Given the description of an element on the screen output the (x, y) to click on. 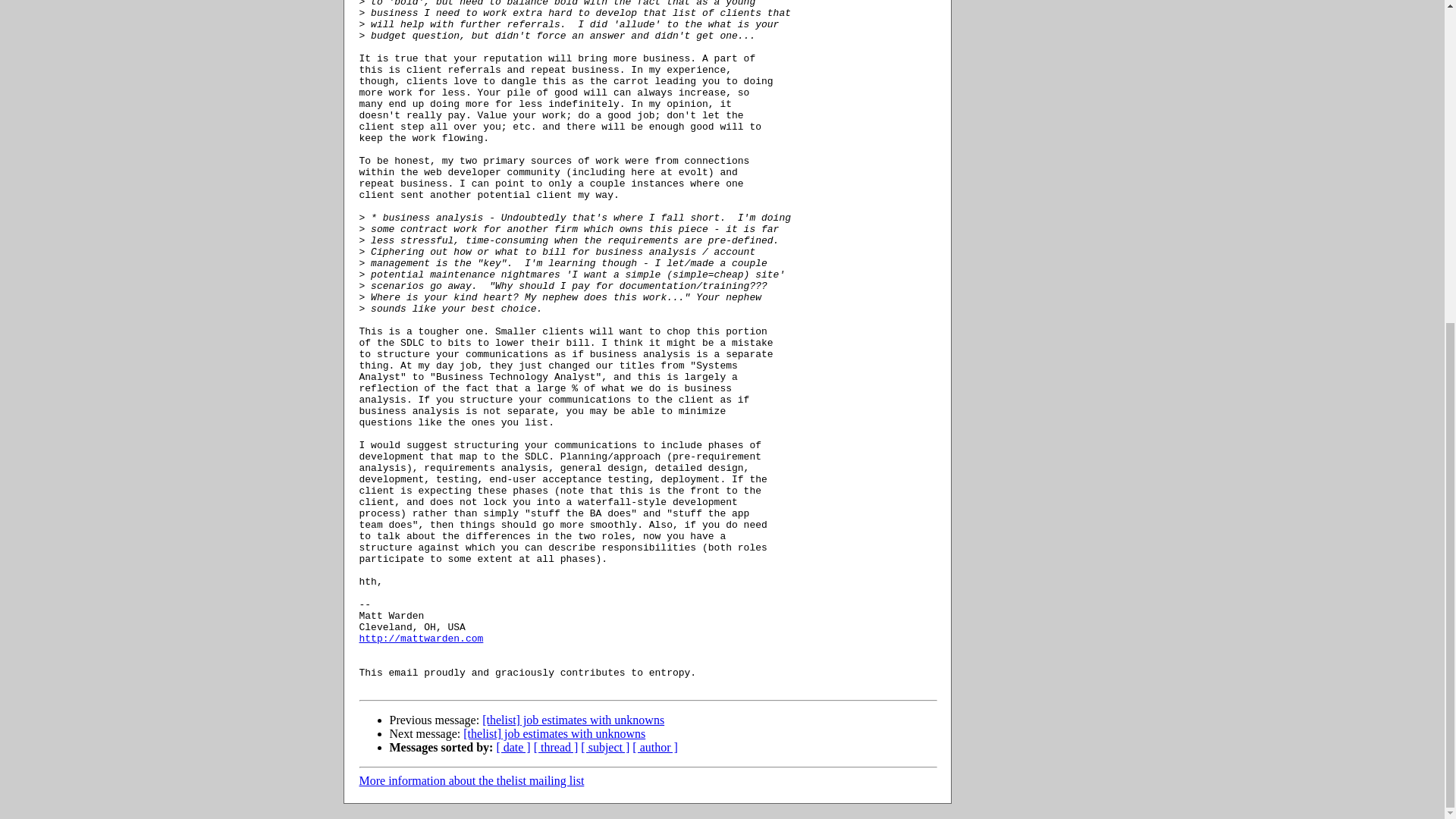
More information about the thelist mailing list (472, 780)
